Given the description of an element on the screen output the (x, y) to click on. 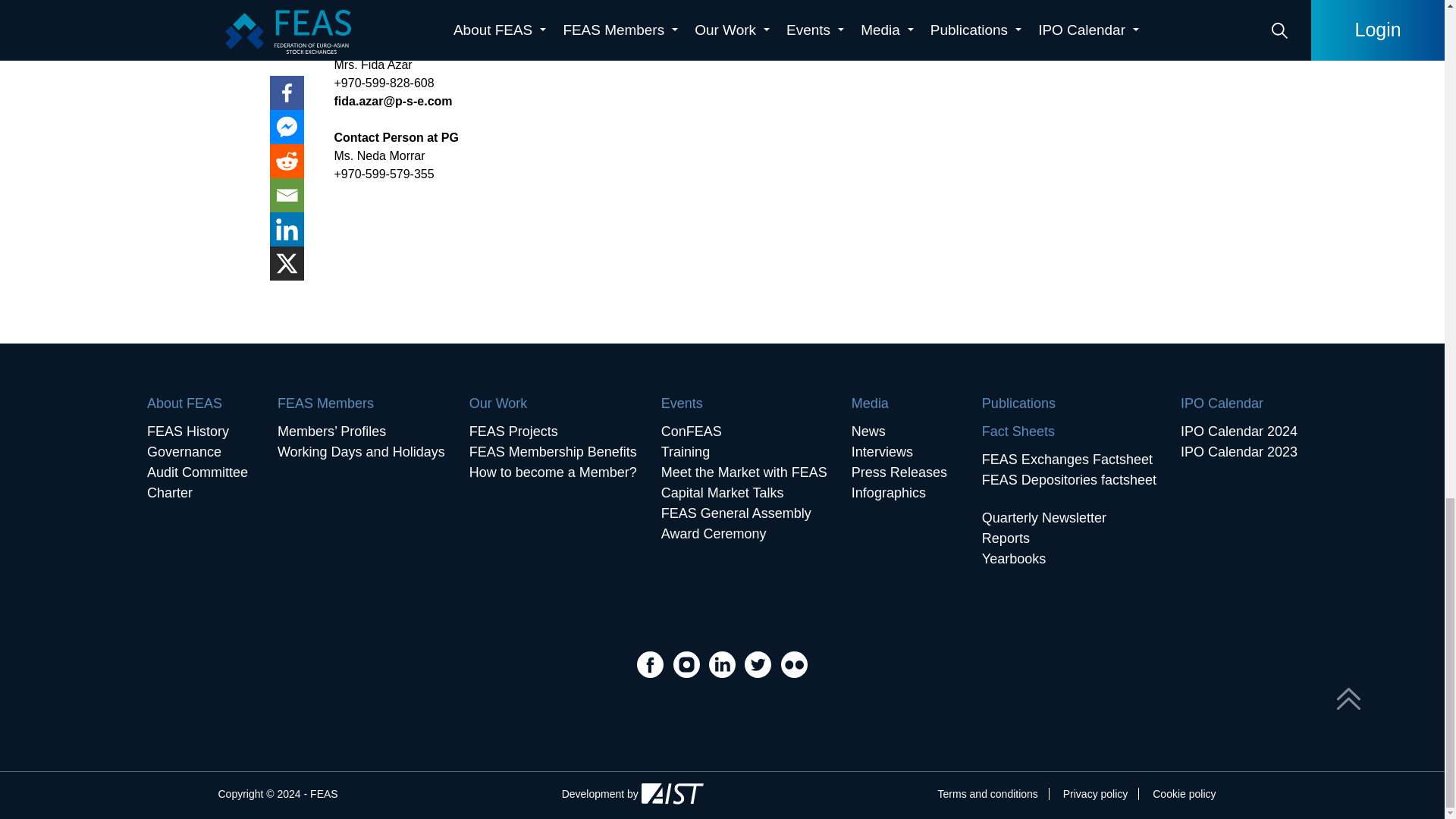
Facebook (651, 662)
Flickr (794, 662)
Linkedin (723, 662)
Instagram (687, 662)
Twitter (759, 662)
